Given the description of an element on the screen output the (x, y) to click on. 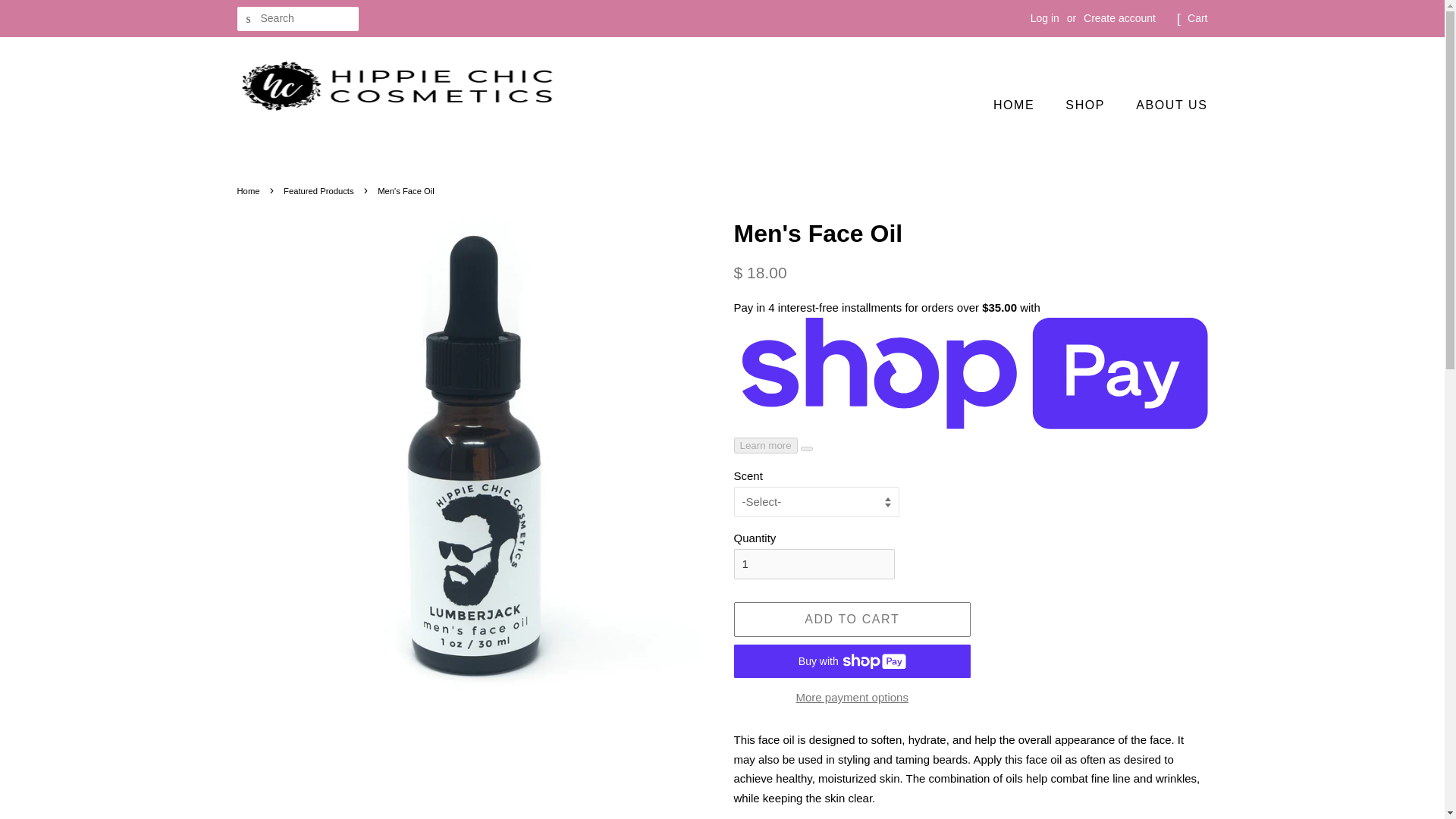
Create account (1119, 18)
SEARCH (247, 18)
ADD TO CART (852, 619)
HOME (1020, 104)
Cart (1197, 18)
More payment options (852, 696)
Back to the frontpage (249, 190)
ABOUT US (1165, 104)
Home (249, 190)
Log in (1044, 18)
1 (814, 563)
SHOP (1086, 104)
Featured Products (320, 190)
